Given the description of an element on the screen output the (x, y) to click on. 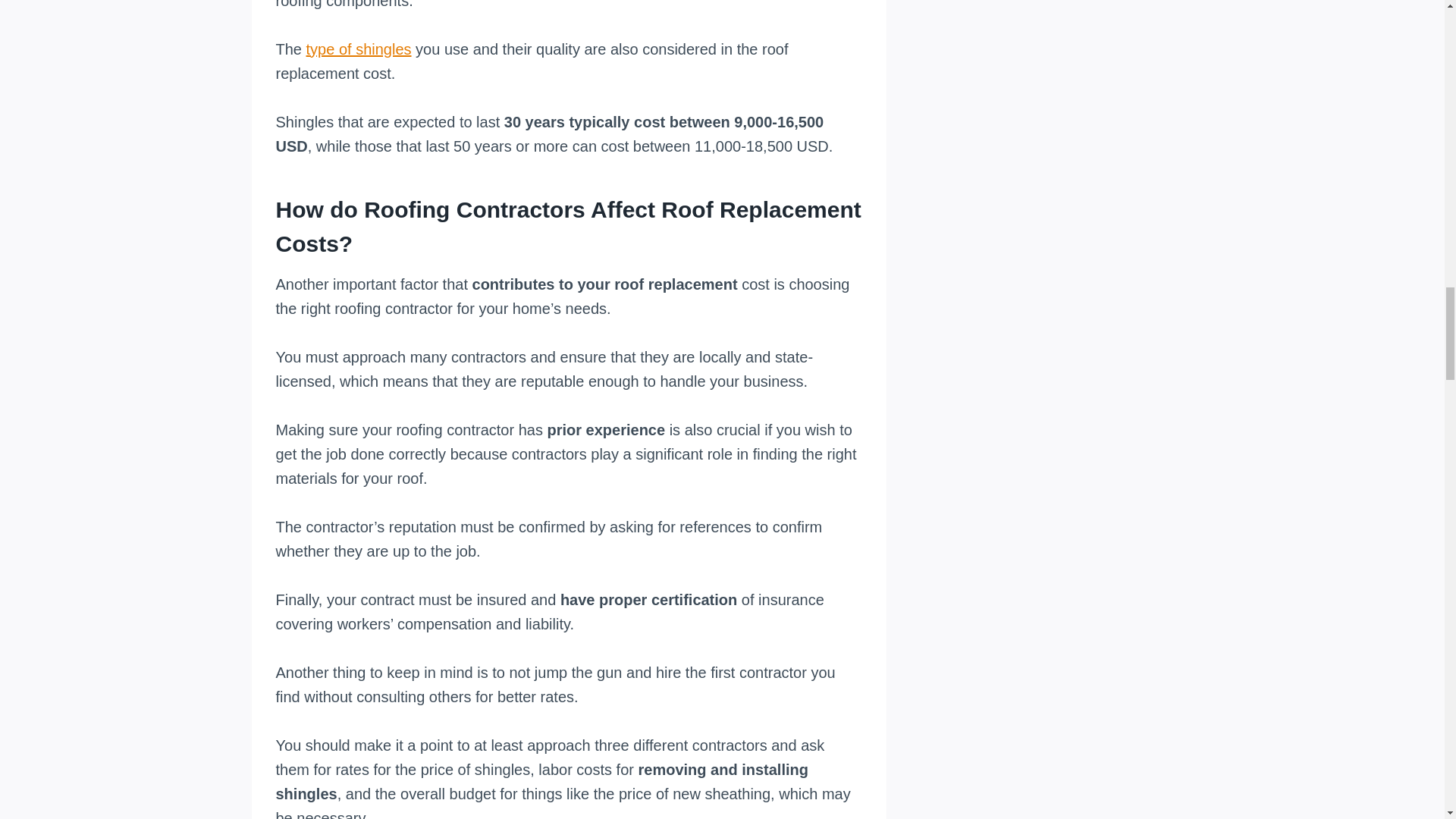
type of shingles (358, 48)
